Given the description of an element on the screen output the (x, y) to click on. 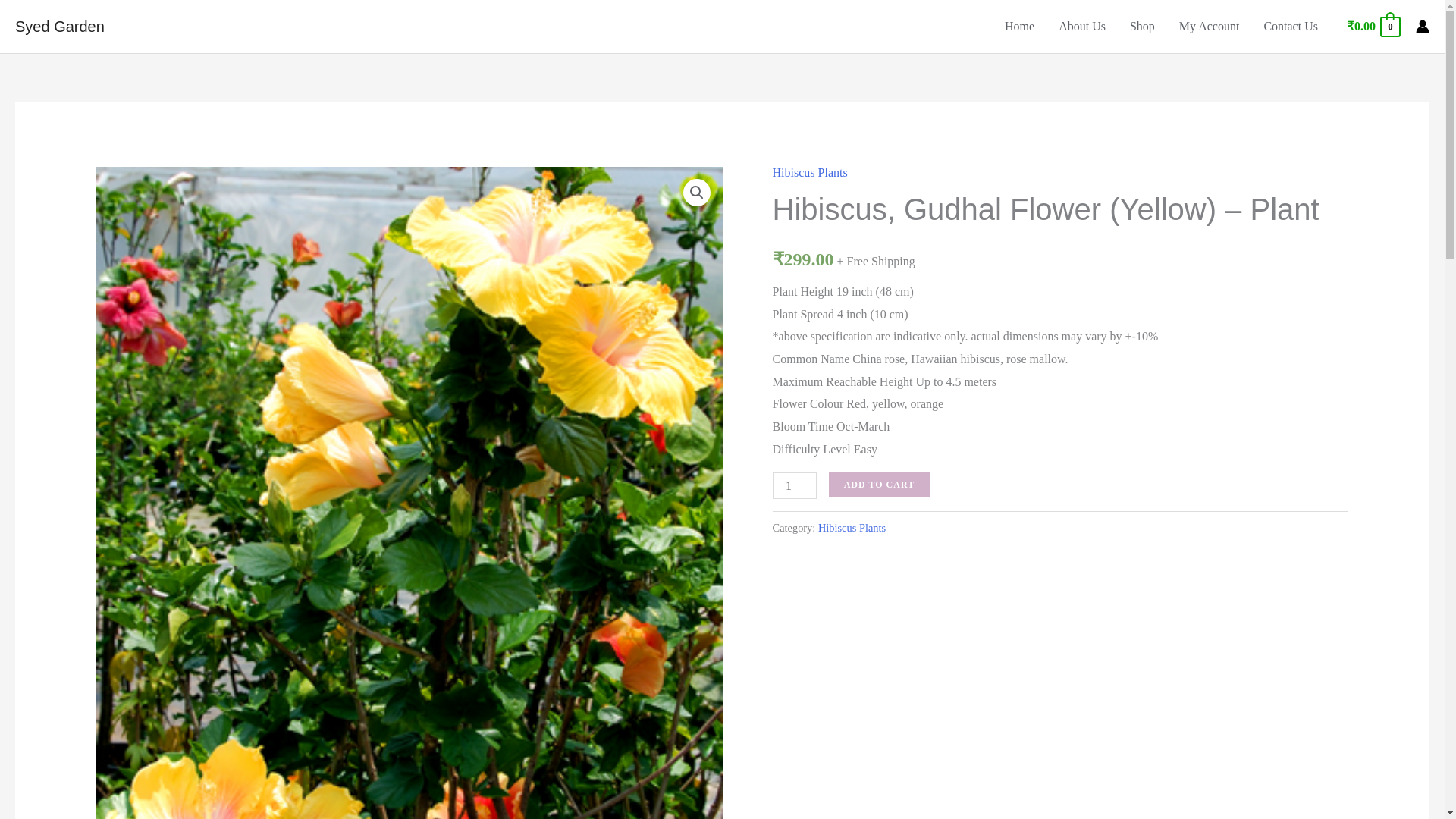
My Account (1209, 26)
Hibiscus Plants (851, 527)
Syed Garden (59, 26)
Contact Us (1290, 26)
Shop (1142, 26)
ADD TO CART (879, 484)
About Us (1082, 26)
Hibiscus Plants (810, 172)
1 (794, 485)
Home (1019, 26)
